Given the description of an element on the screen output the (x, y) to click on. 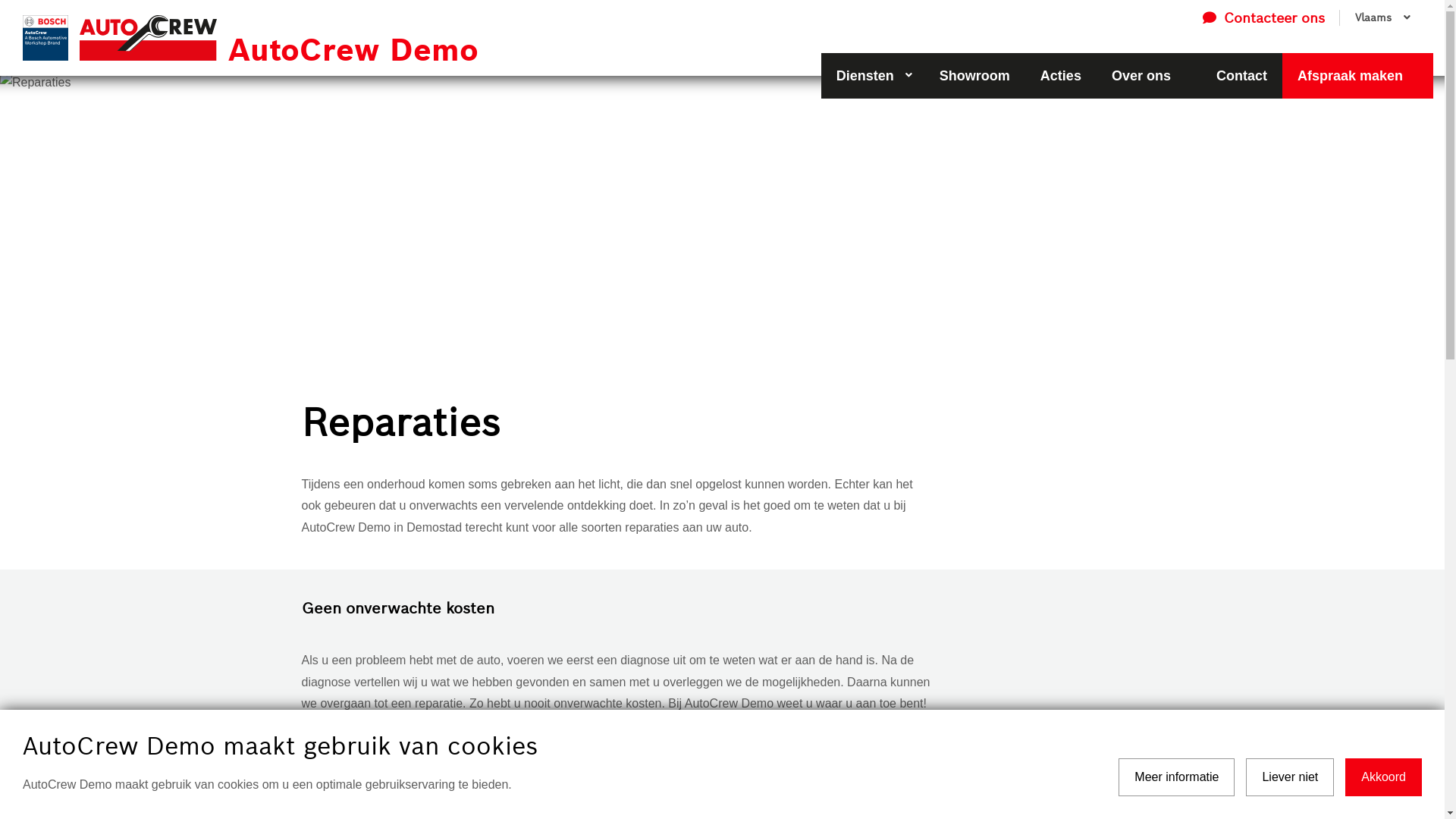
Showroom Element type: text (974, 75)
Contact Element type: text (1241, 75)
Diensten Element type: text (872, 75)
Skip to main content Element type: text (0, 0)
Afspraak maken Element type: text (1357, 75)
Vlaams Element type: text (1380, 17)
Meer informatie Element type: text (1176, 777)
AutoCrew Demo Element type: text (366, 37)
Contacteer ons Element type: text (1263, 17)
Acties Element type: text (1060, 75)
Liever niet Element type: text (1289, 777)
Akkoord Element type: text (1383, 777)
Over ons Element type: text (1148, 75)
